Given the description of an element on the screen output the (x, y) to click on. 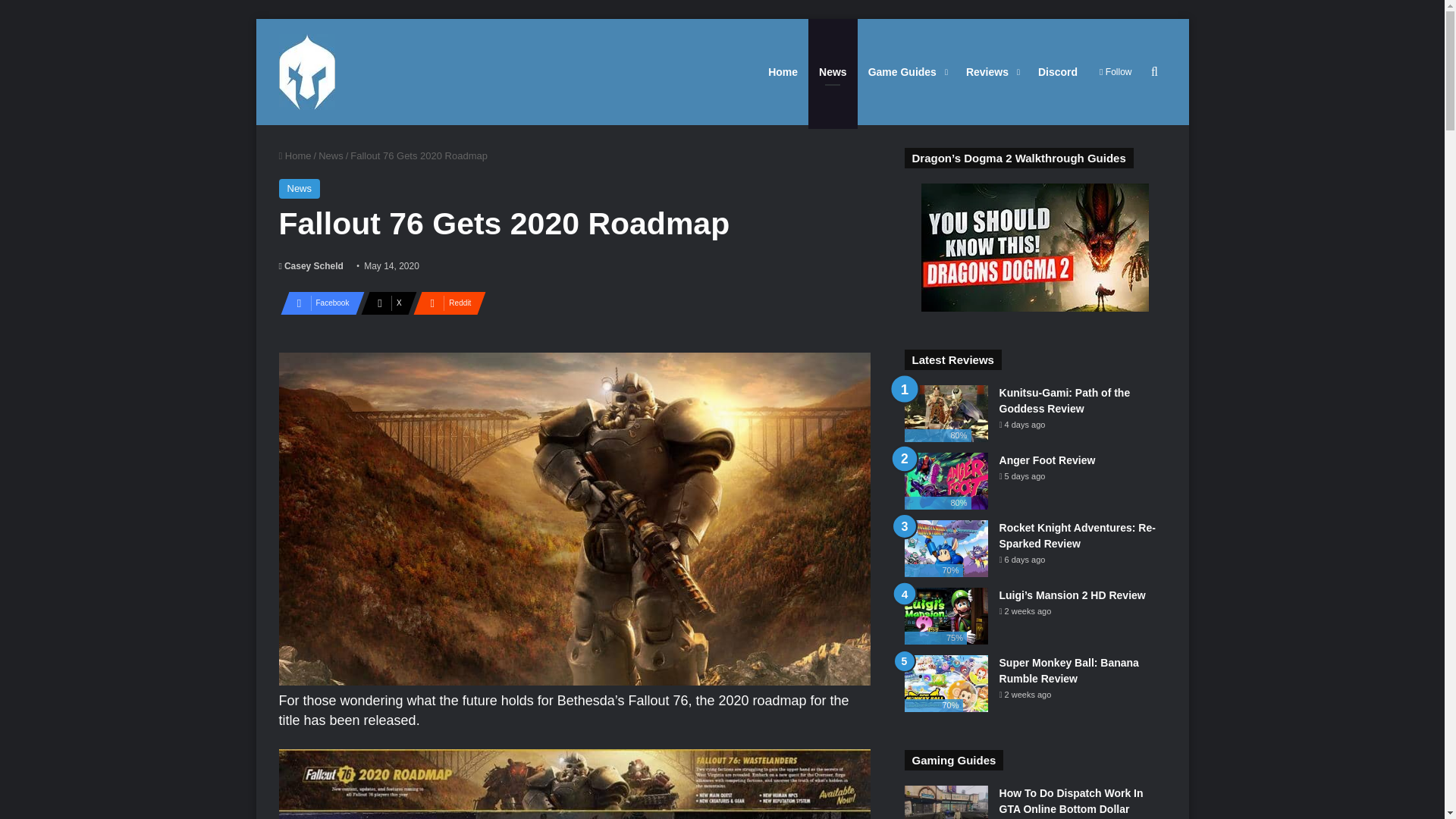
X (384, 302)
Facebook (318, 302)
Facebook (318, 302)
Game Guides (906, 71)
Reddit (445, 302)
Home (295, 155)
Game Guides (906, 71)
News (330, 155)
Casey Scheld (311, 266)
Casey Scheld (311, 266)
X (384, 302)
News (299, 189)
Reddit (445, 302)
